Given the description of an element on the screen output the (x, y) to click on. 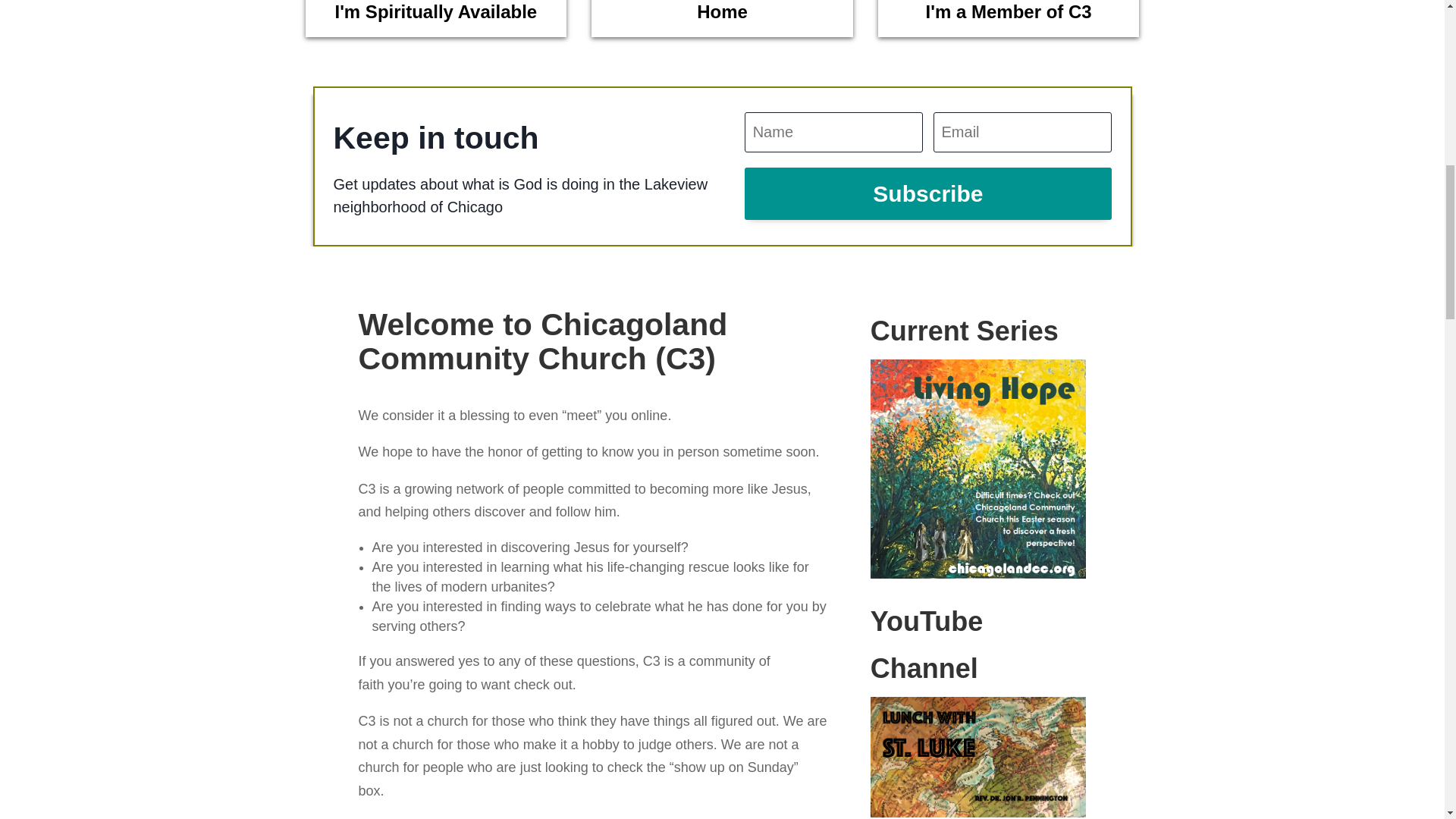
Subscribe (927, 193)
Living Hope (978, 468)
LWL - Title (978, 756)
